Given the description of an element on the screen output the (x, y) to click on. 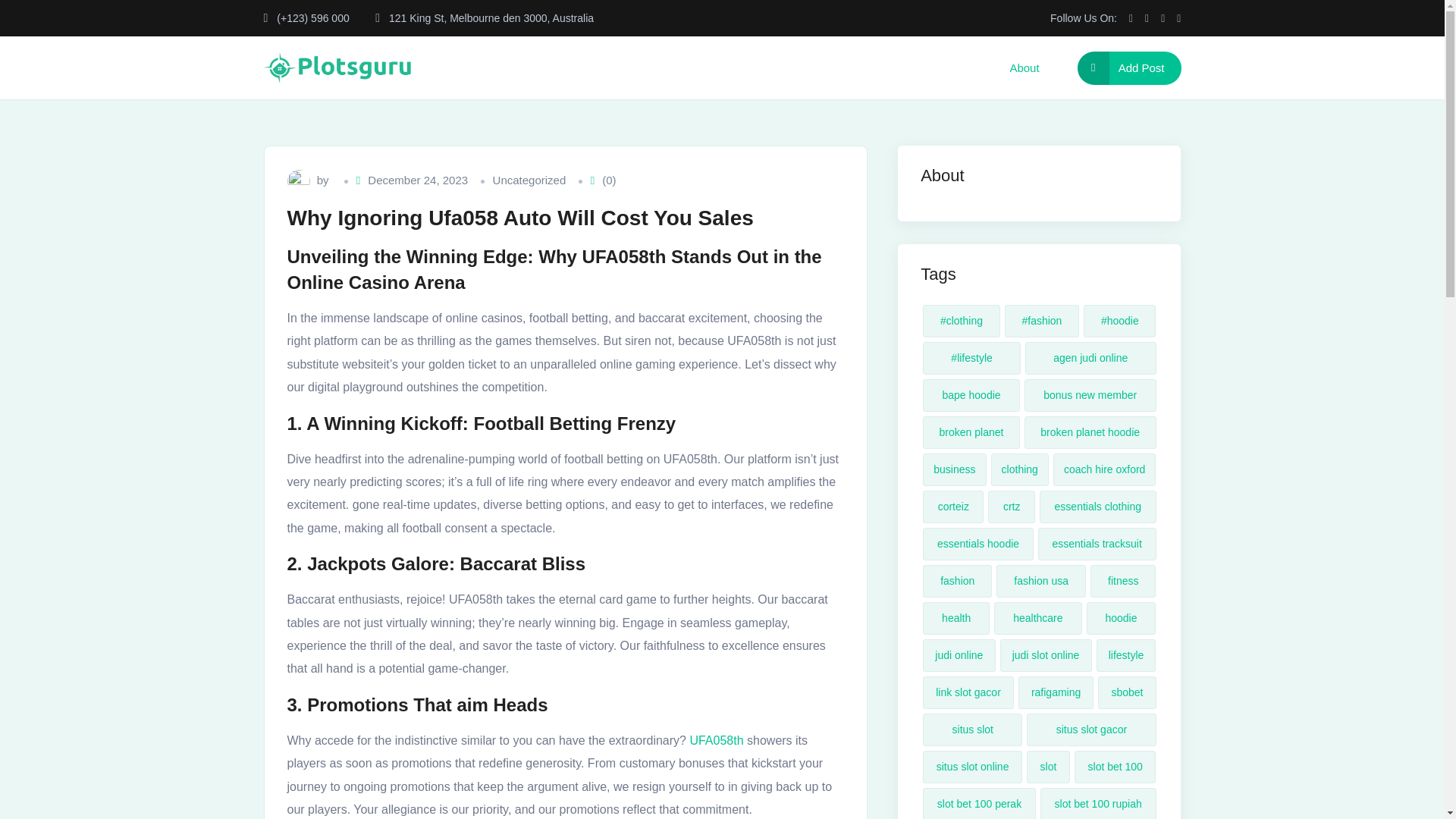
broken planet hoodie (1090, 432)
Uncategorized (529, 180)
agen judi online (1090, 358)
UFA058th (715, 740)
broken planet (971, 432)
Add Post (1128, 68)
bape hoodie (971, 395)
bonus new member (1090, 395)
About (1023, 67)
